Given the description of an element on the screen output the (x, y) to click on. 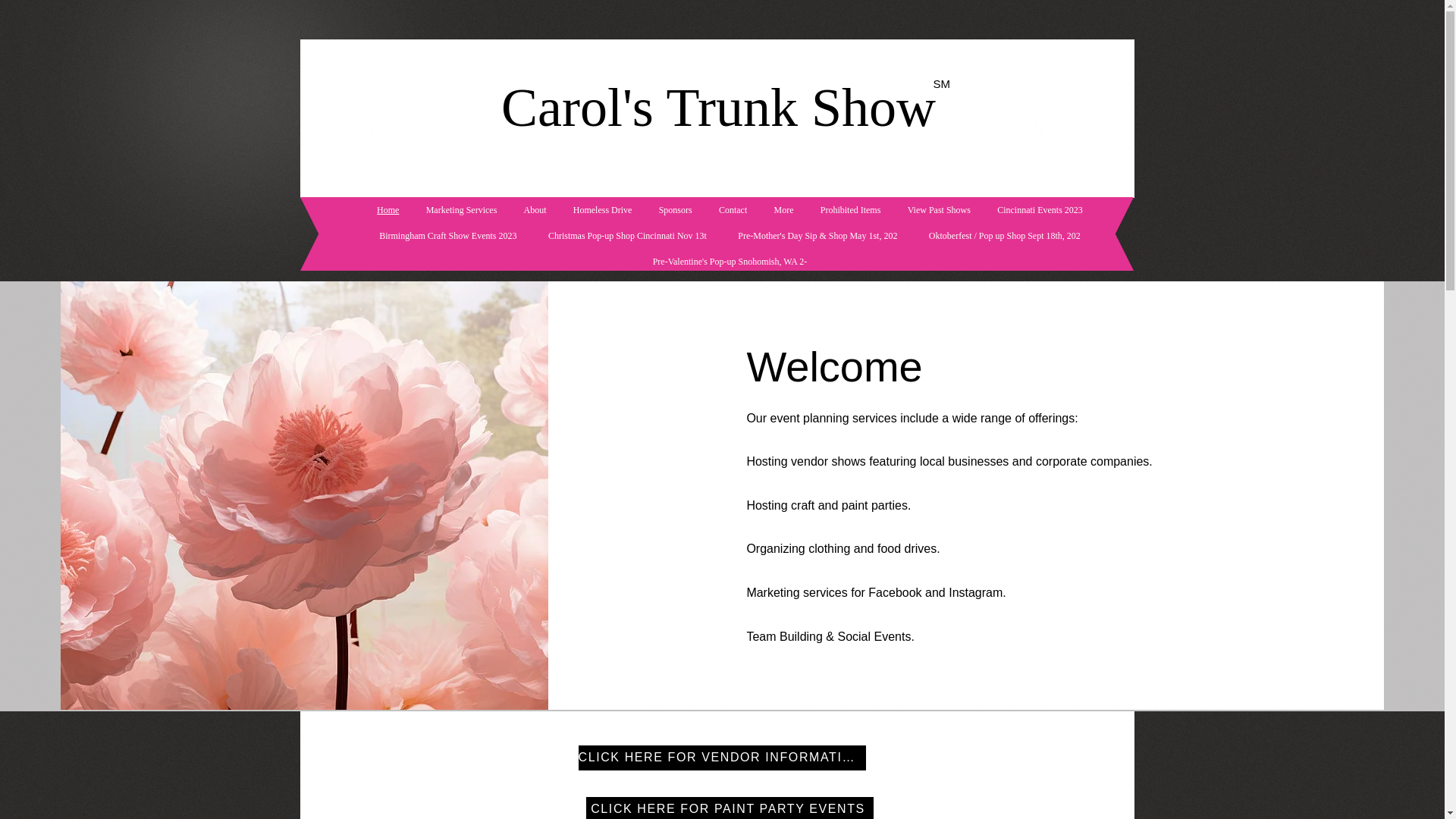
Sponsors (674, 209)
Prohibited Items (850, 209)
View Past Shows (938, 209)
Christmas Pop-up Shop Cincinnati Nov 13t (627, 235)
Contact (732, 209)
Home (388, 209)
More (783, 209)
Birmingham Craft Show Events 2023 (448, 235)
Marketing Services (461, 209)
CLICK HERE FOR VENDOR INFORMATION (721, 757)
Cincinnati Events 2023 (1039, 209)
Pre-Valentine's Pop-up Snohomish, WA 2- (729, 261)
CLICK HERE FOR PAINT PARTY EVENTS (728, 807)
Homeless Drive (602, 209)
About (534, 209)
